Given the description of an element on the screen output the (x, y) to click on. 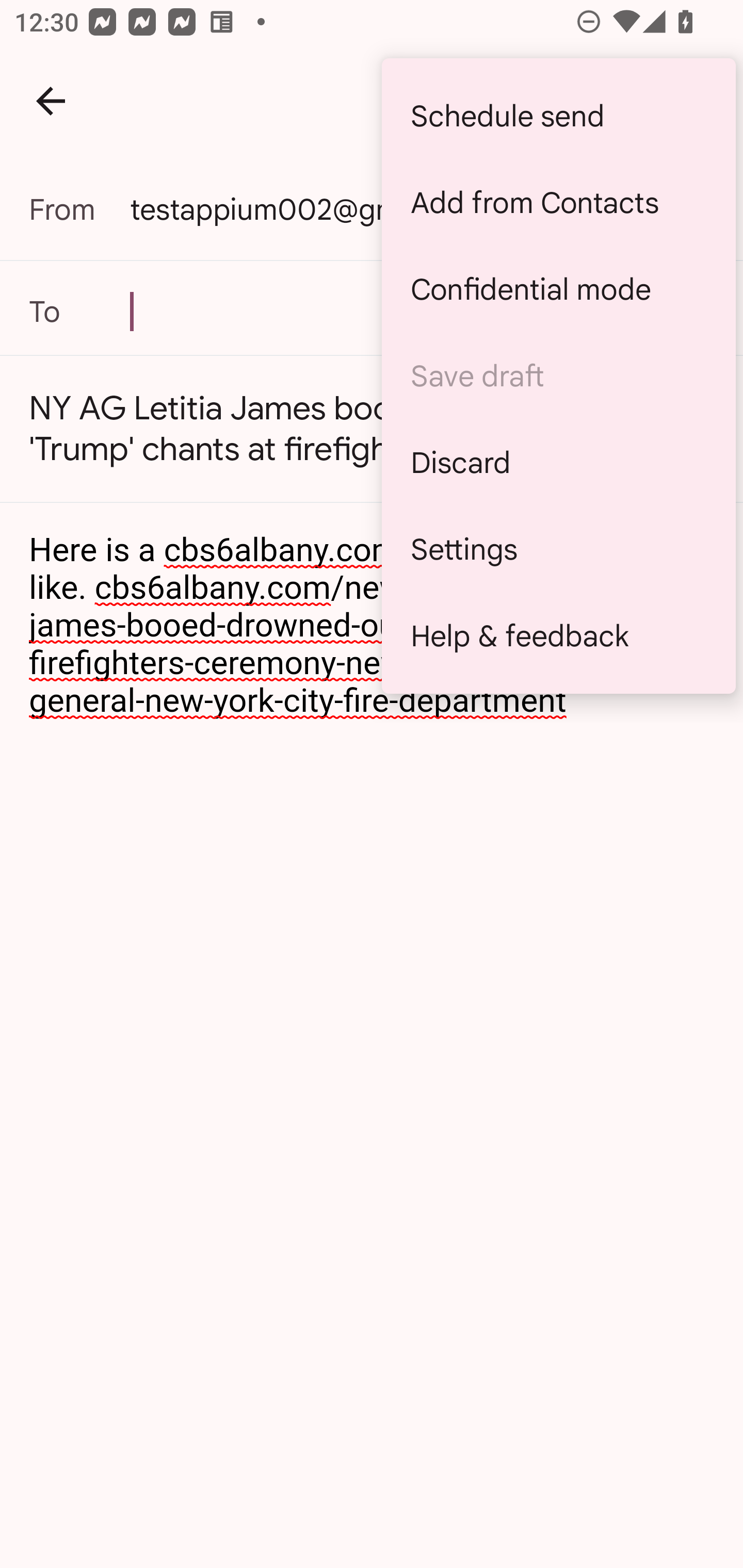
Schedule send (558, 115)
Add from Contacts (558, 202)
Confidential mode (558, 289)
Save draft disabled Save draft (558, 375)
Discard (558, 462)
Settings (558, 549)
Help & feedback (558, 635)
